Given the description of an element on the screen output the (x, y) to click on. 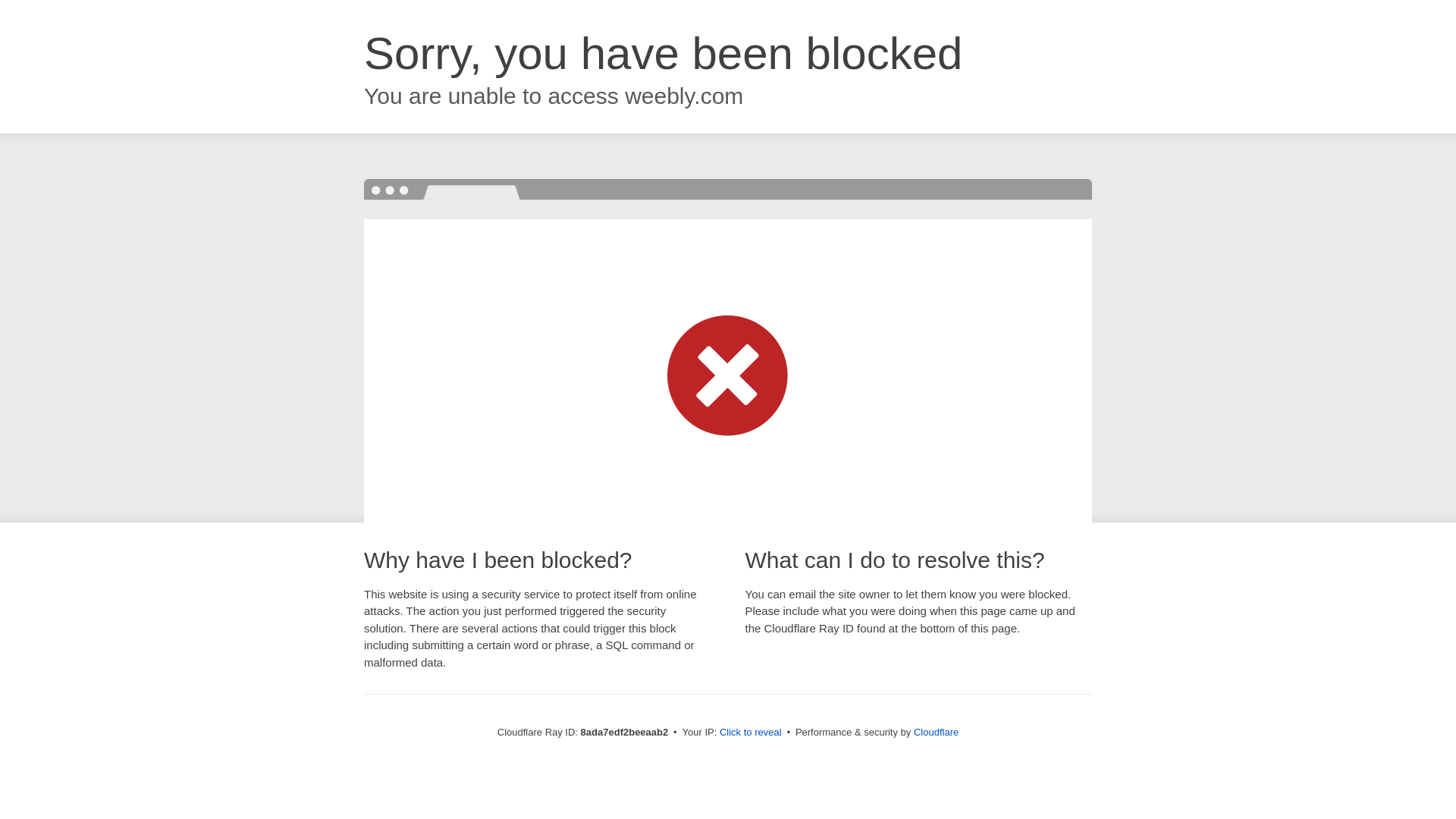
Cloudflare (936, 731)
Click to reveal (750, 732)
